Given the description of an element on the screen output the (x, y) to click on. 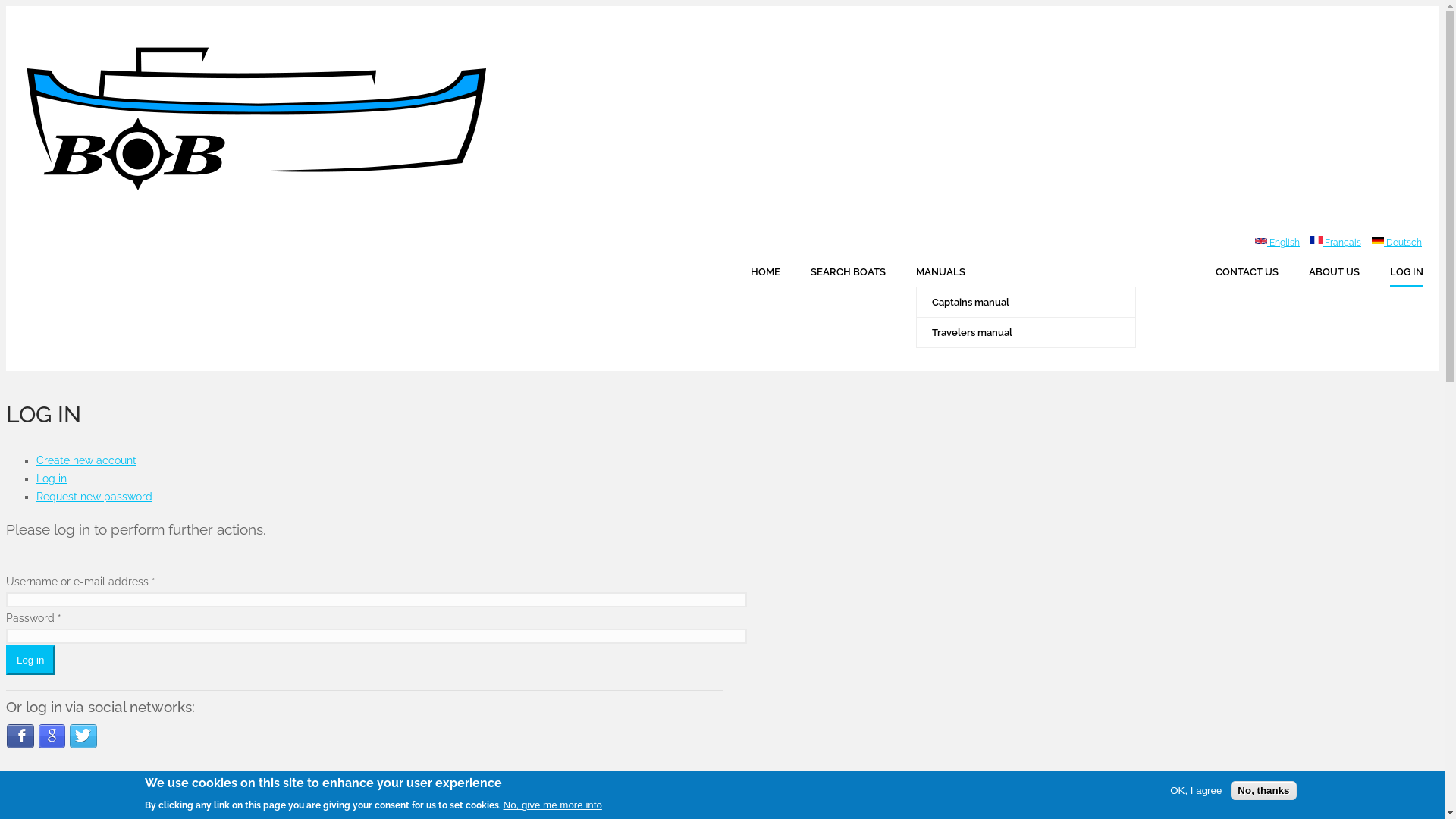
Login with Twitter Element type: text (83, 744)
SEARCH BOATS Element type: text (847, 271)
CONTACT US Element type: text (1246, 271)
English Element type: hover (1261, 241)
HOME Element type: text (765, 271)
Login with Facebook Element type: text (20, 744)
No, thanks Element type: text (1262, 790)
LOG IN Element type: text (1406, 271)
Travelers manual Element type: text (1040, 332)
Skip to main content Element type: text (57, 6)
ABOUT US Element type: text (1333, 271)
Log in
(active tab) Element type: text (51, 478)
Deutsch Element type: hover (1377, 240)
No, give me more info Element type: text (552, 804)
Home Element type: hover (290, 203)
Deutsch Element type: text (1396, 242)
Request new password Element type: text (94, 496)
OK, I agree Element type: text (1195, 790)
Create new account Element type: text (86, 460)
Captains manual Element type: text (1040, 301)
MANUALS Element type: text (1050, 271)
Log in Element type: text (30, 659)
Login with Google Element type: text (51, 744)
English Element type: text (1277, 242)
